Given the description of an element on the screen output the (x, y) to click on. 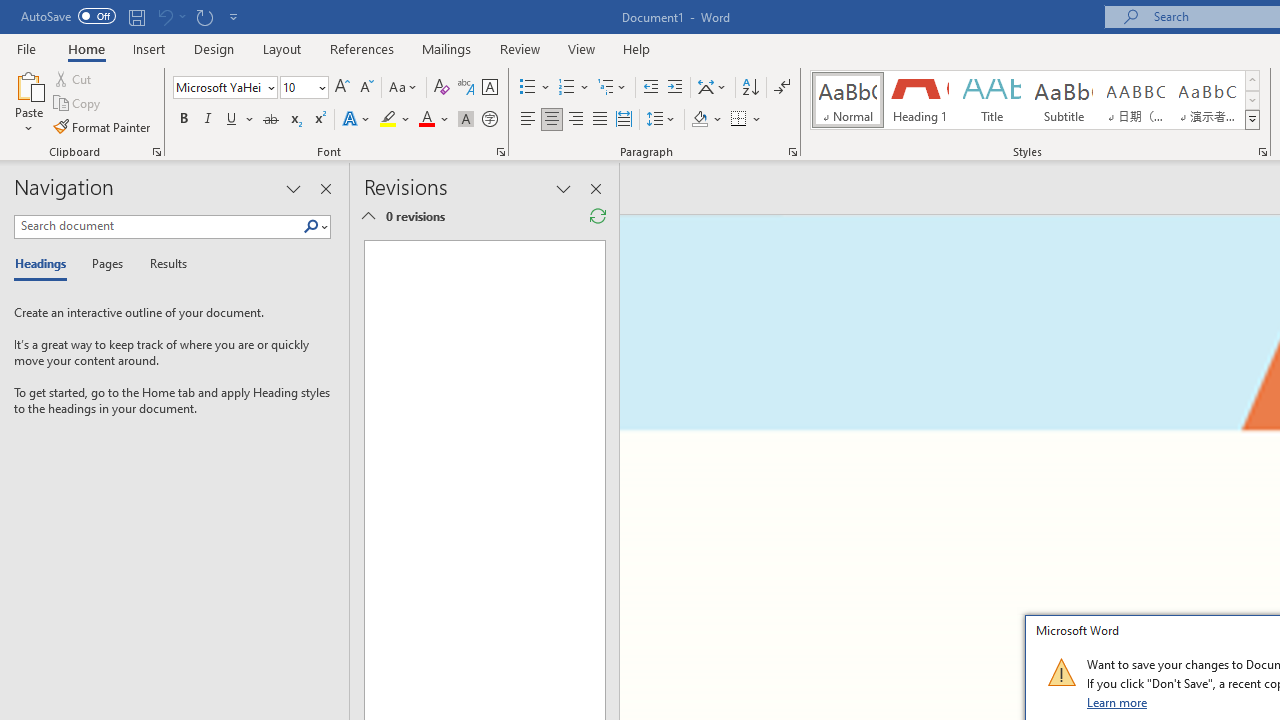
Italic (207, 119)
Multilevel List (613, 87)
Subtitle (1063, 100)
Text Highlight Color Yellow (388, 119)
